Given the description of an element on the screen output the (x, y) to click on. 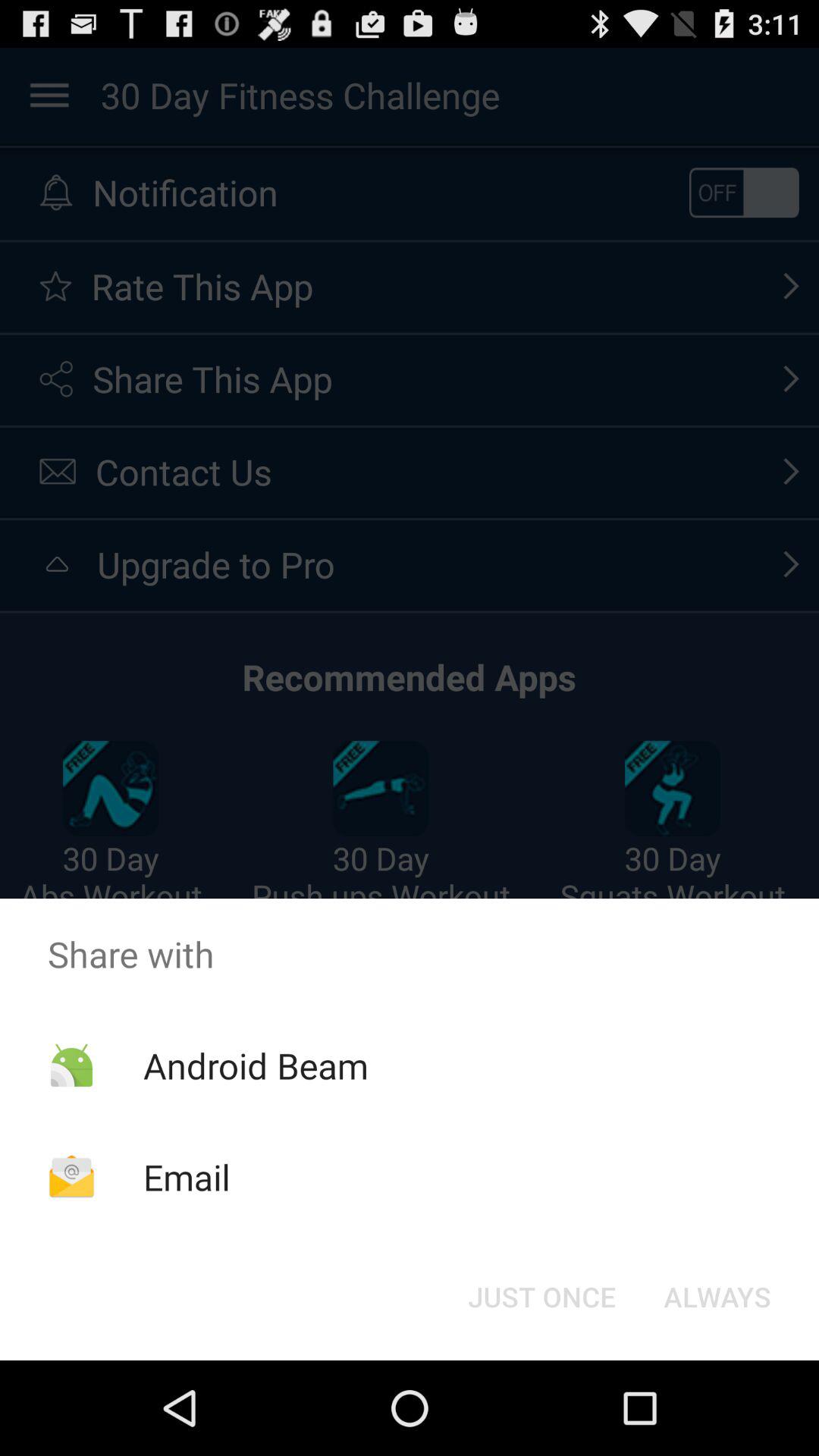
choose the android beam icon (255, 1065)
